Given the description of an element on the screen output the (x, y) to click on. 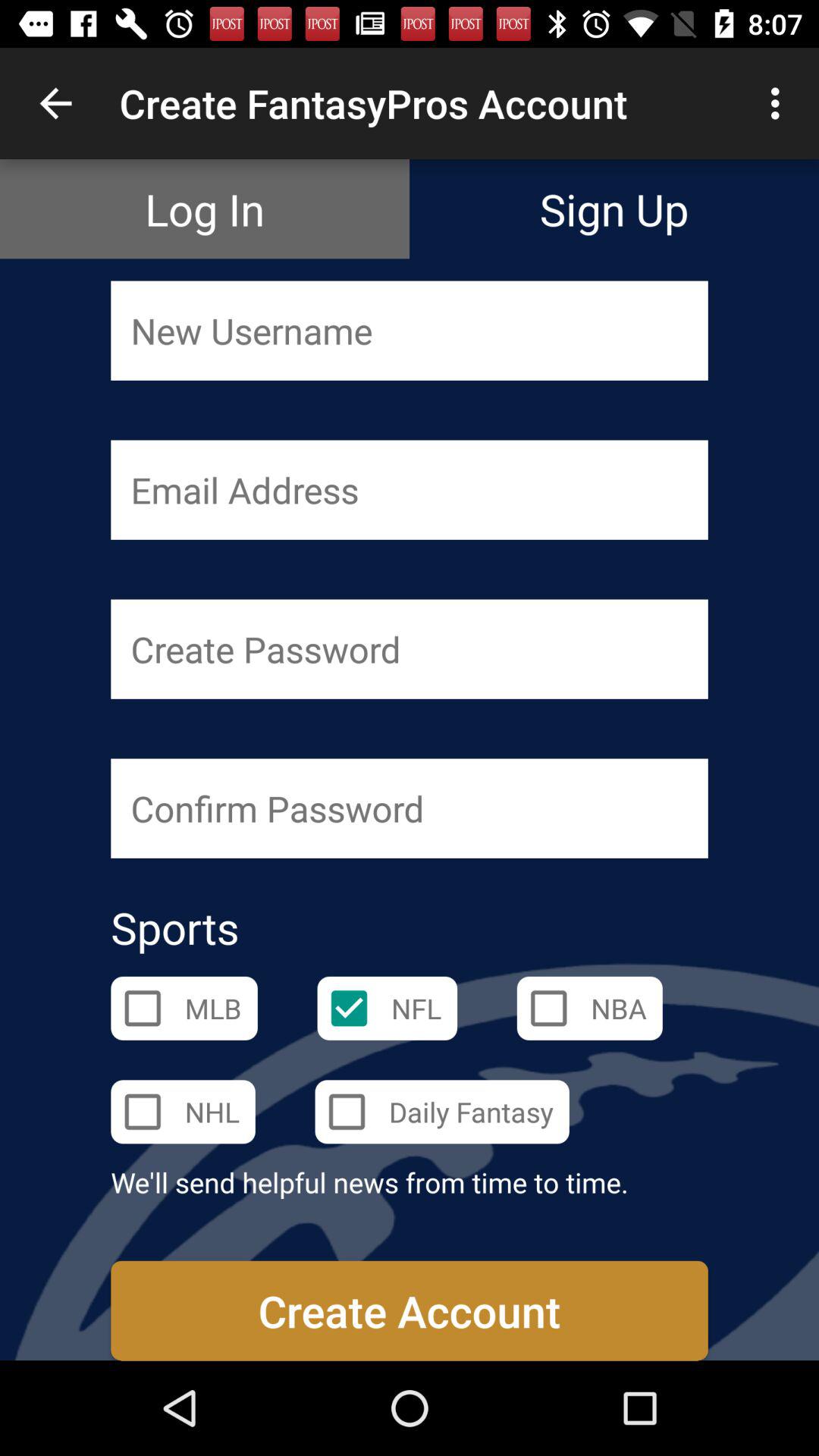
click the item next to sign up icon (204, 208)
